Given the description of an element on the screen output the (x, y) to click on. 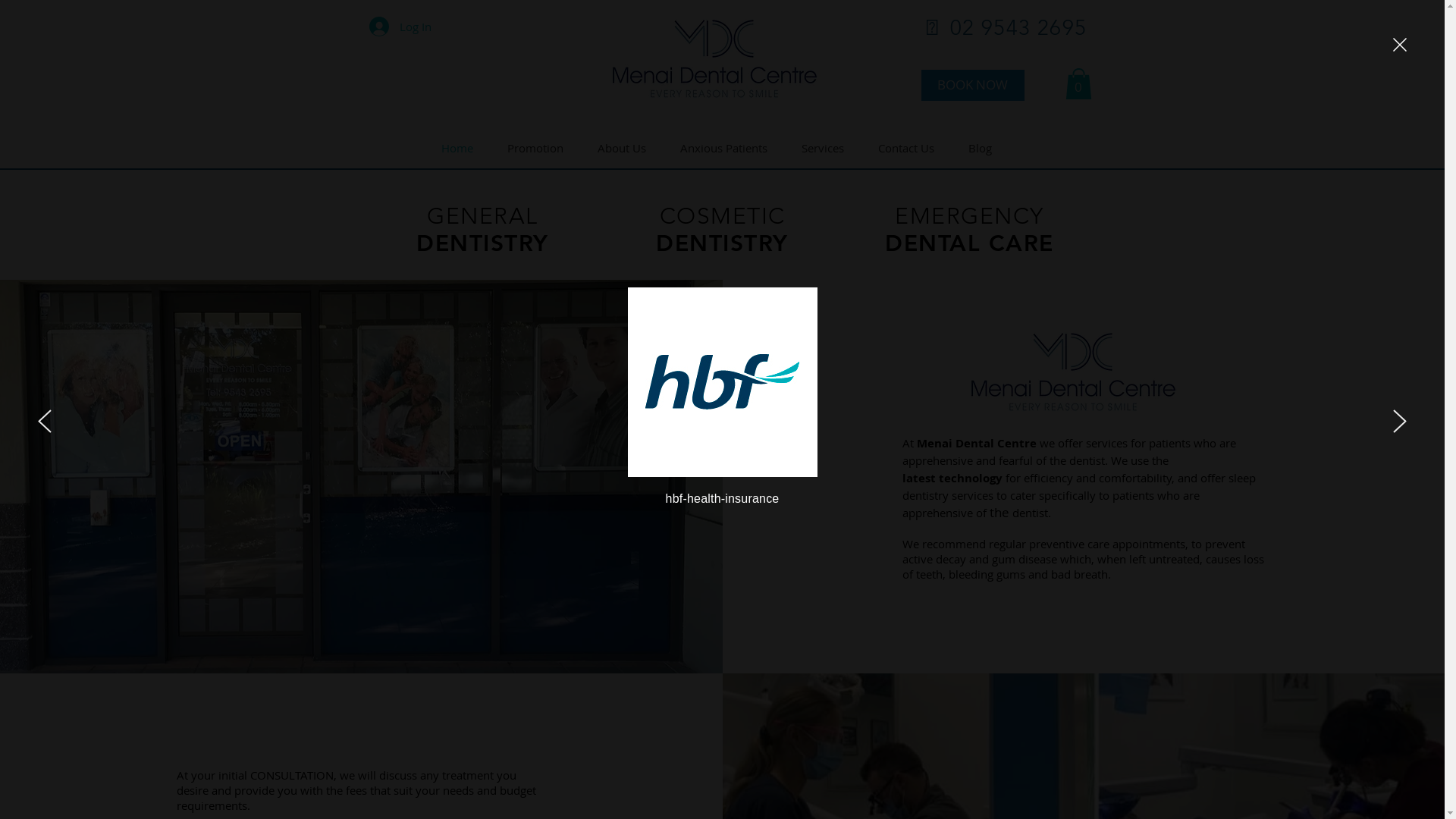
Home Element type: text (462, 147)
BOOK NOW Element type: text (971, 84)
Contact Us Element type: text (911, 147)
GENERAL Element type: text (482, 215)
Log In Element type: text (399, 26)
DENTISTRY Element type: text (721, 242)
0 Element type: text (1077, 84)
Services Element type: text (828, 147)
DENTISTRY Element type: text (482, 242)
Promotion Element type: text (540, 147)
About Us Element type: text (626, 147)
Anxious Patients Element type: text (729, 147)
COSMETIC Element type: text (722, 215)
EMERGENCY Element type: text (969, 215)
DENTAL CARE Element type: text (969, 242)
Blog Element type: text (985, 147)
